Given the description of an element on the screen output the (x, y) to click on. 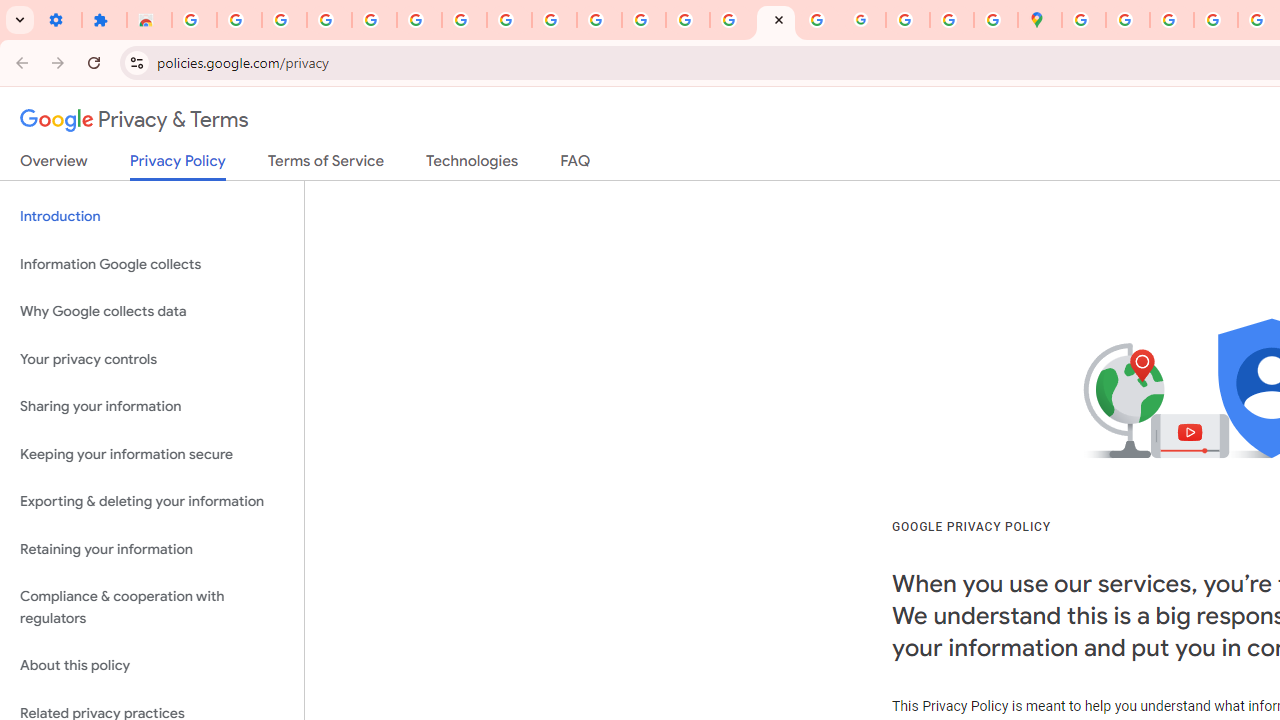
Extensions (103, 20)
Settings - On startup (59, 20)
Delete photos & videos - Computer - Google Photos Help (239, 20)
Keeping your information secure (152, 453)
